Given the description of an element on the screen output the (x, y) to click on. 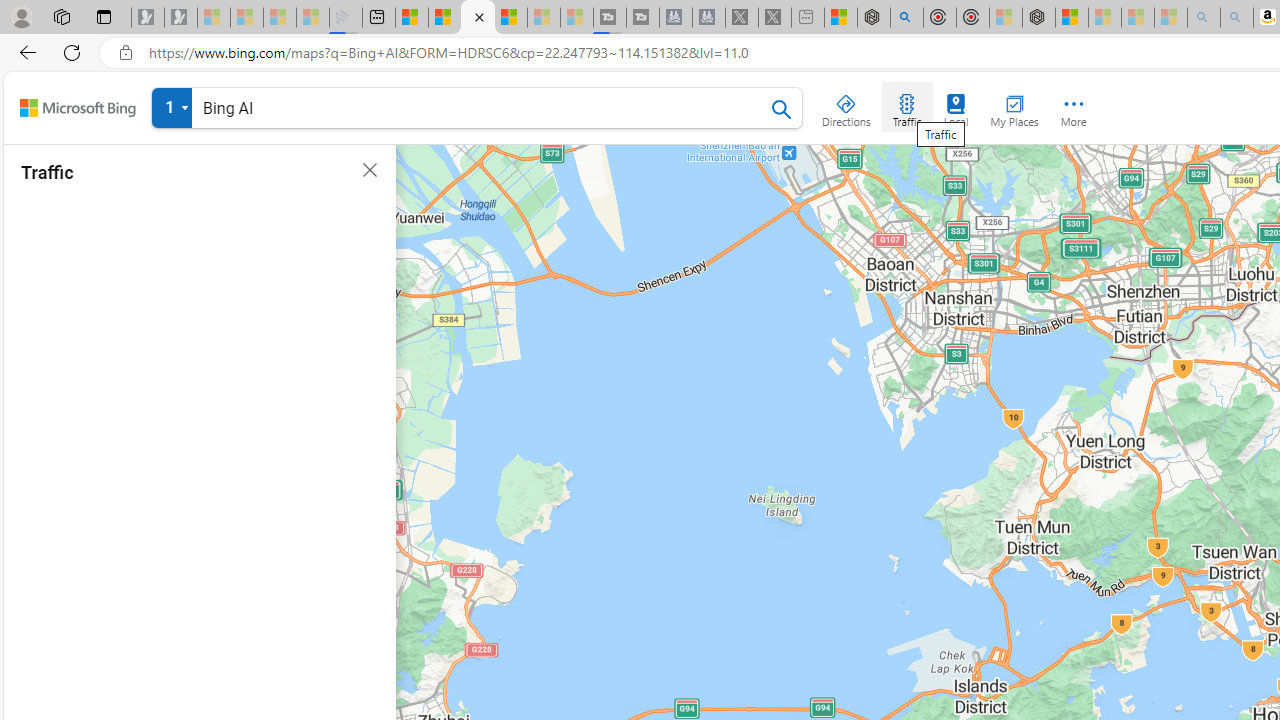
Bing AI - Bing Maps (478, 17)
 View all your searches (172, 107)
More (1073, 106)
Traffic (906, 106)
Traffic (906, 106)
Local (955, 106)
Amazon Echo Dot PNG - Search Images - Sleeping (1237, 17)
X - Sleeping (775, 17)
